Given the description of an element on the screen output the (x, y) to click on. 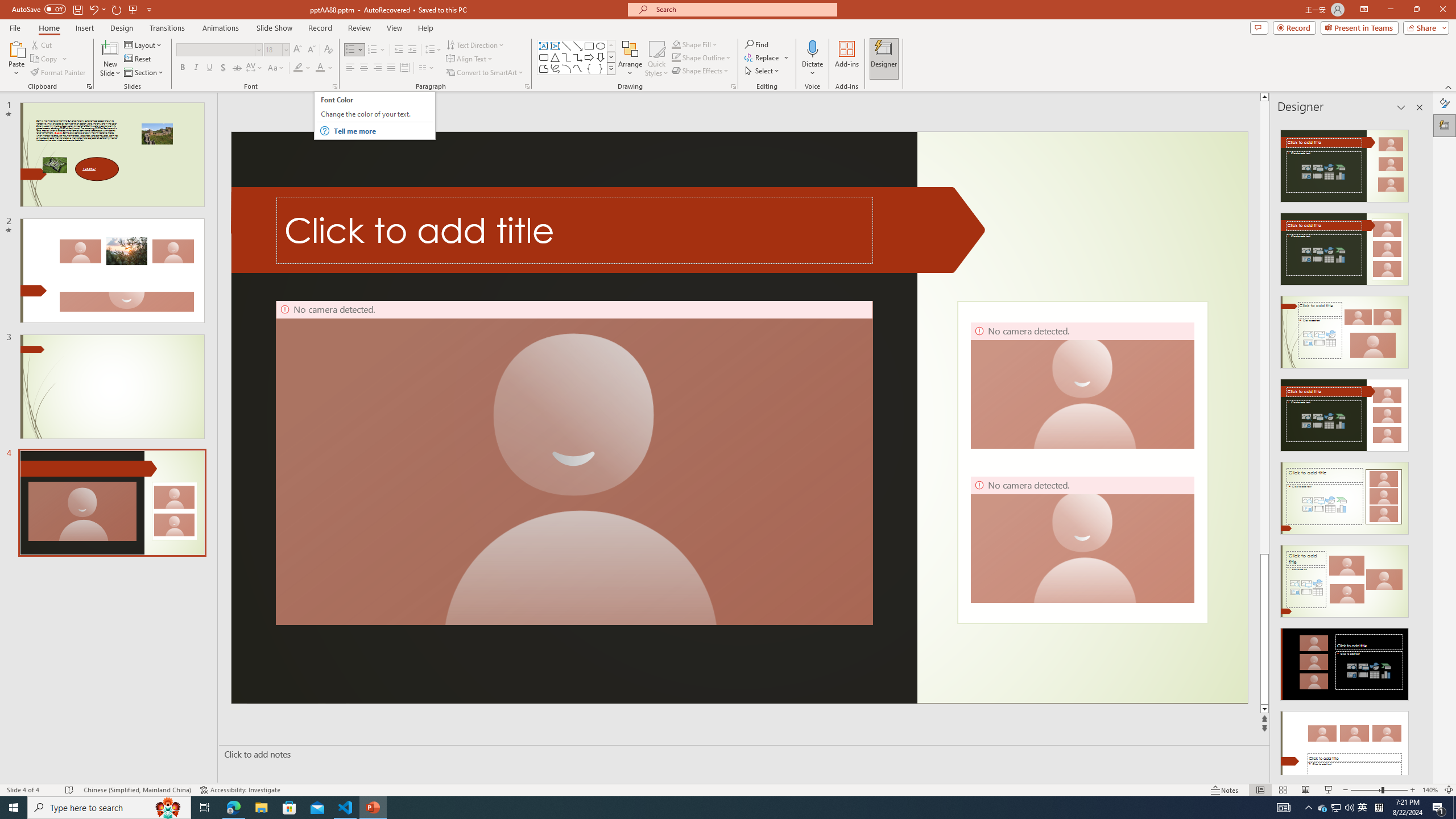
Camera 4, No camera detected. (1082, 539)
